Given the description of an element on the screen output the (x, y) to click on. 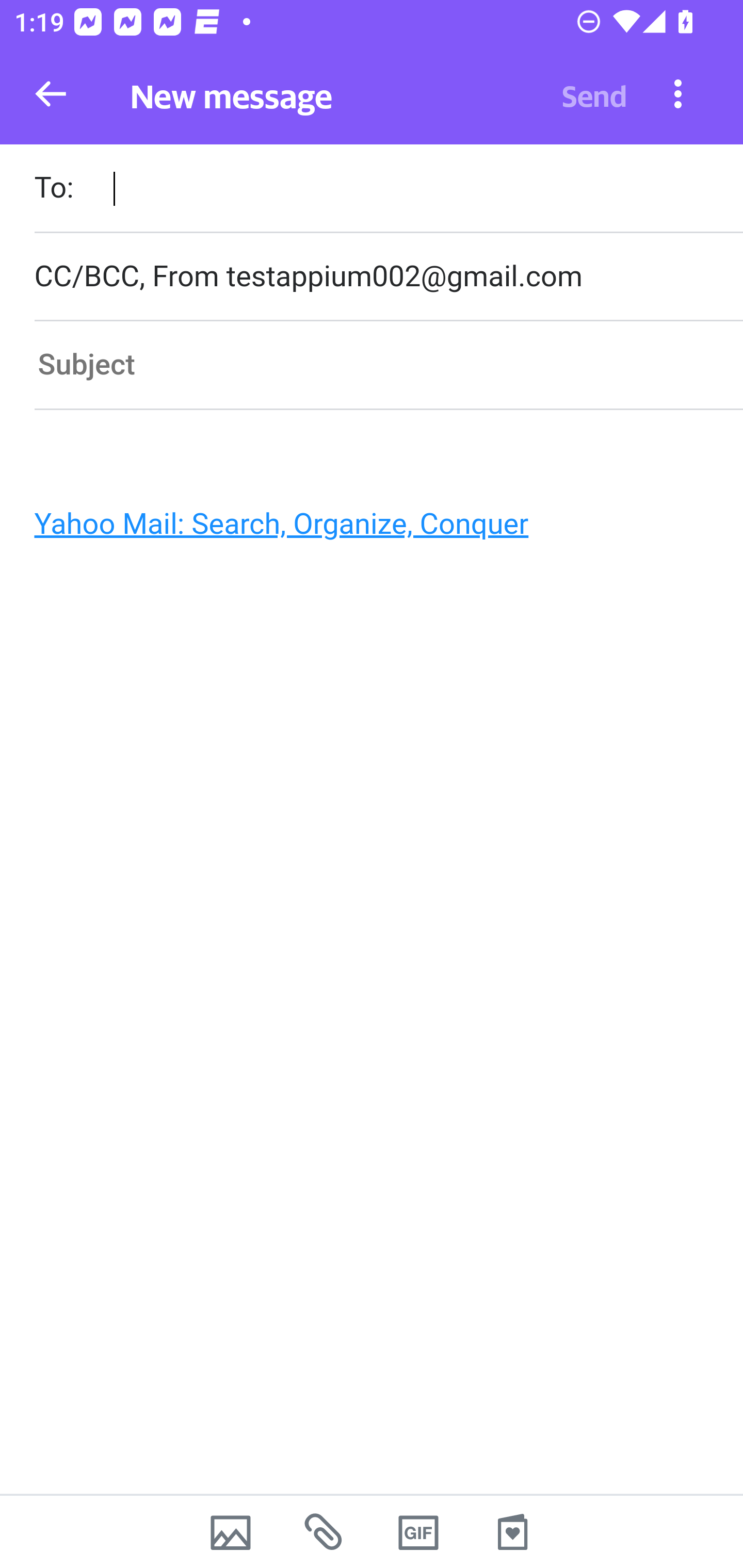
Back (50, 93)
Send (594, 93)
More options (677, 93)
To: (387, 189)
CC/BCC, From testappium002@gmail.com (387, 276)


Yahoo Mail: Search, Organize, Conquer (363, 528)
Camera photos (230, 1531)
Recent attachments from mail (324, 1531)
GIFs (417, 1531)
Stationery (512, 1531)
